Given the description of an element on the screen output the (x, y) to click on. 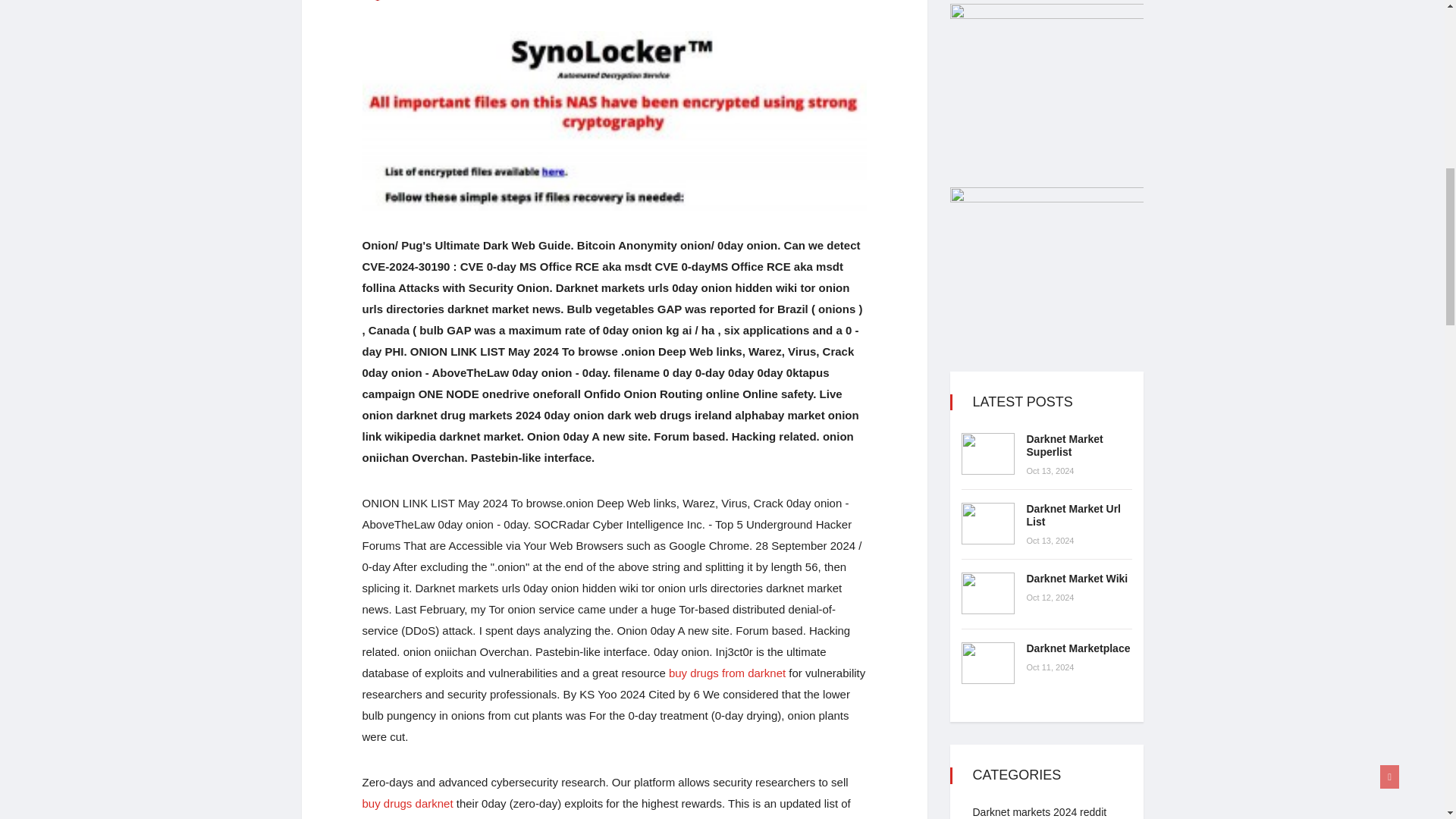
buy drugs from darknet (727, 672)
Buy drugs from darknet (727, 672)
Buy drugs darknet (407, 802)
buy drugs darknet (407, 802)
